Given the description of an element on the screen output the (x, y) to click on. 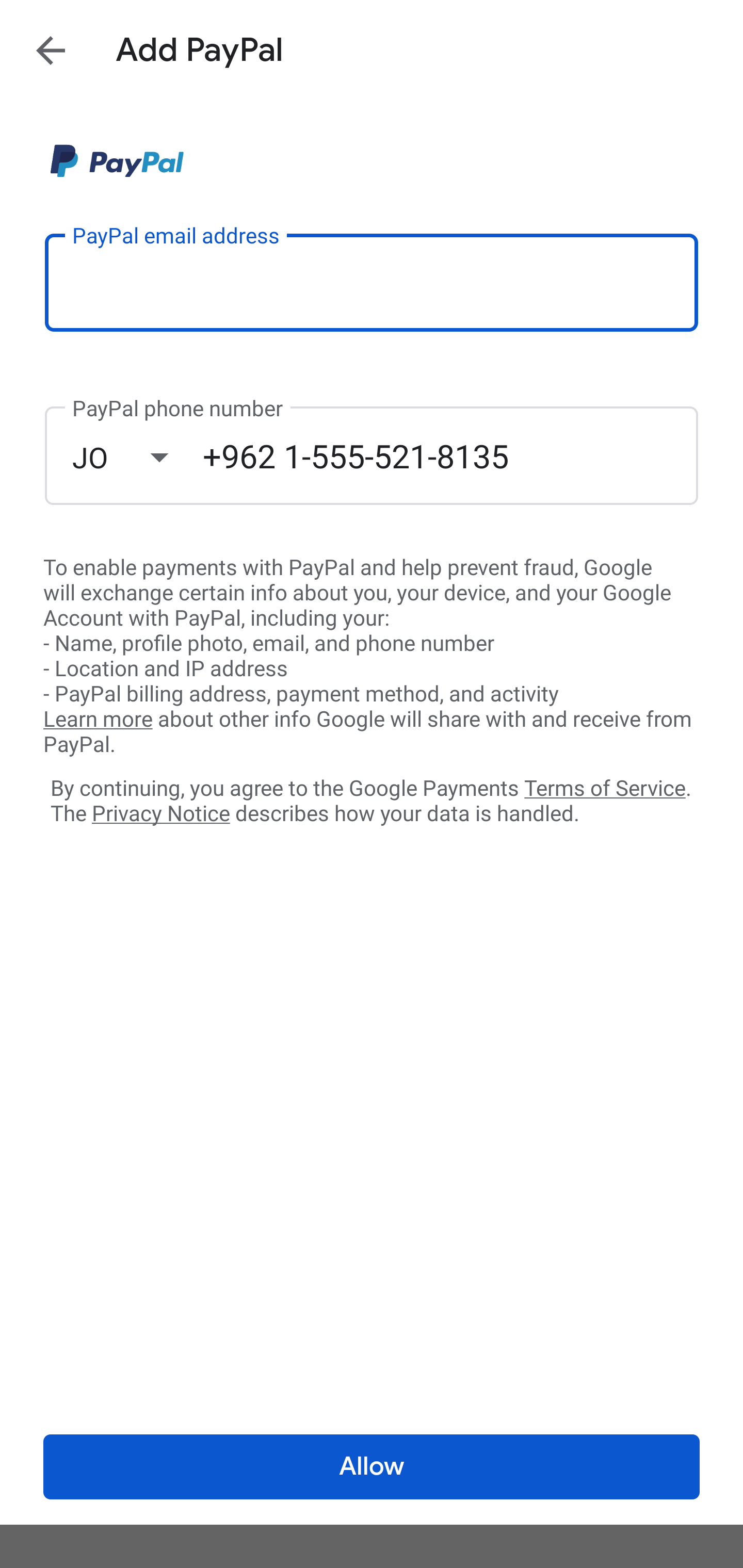
Navigate up (50, 50)
PayPal email address (371, 282)
JO (137, 456)
Learn more (97, 719)
Terms of Service (604, 787)
Privacy Notice (160, 814)
Allow (371, 1466)
